Given the description of an element on the screen output the (x, y) to click on. 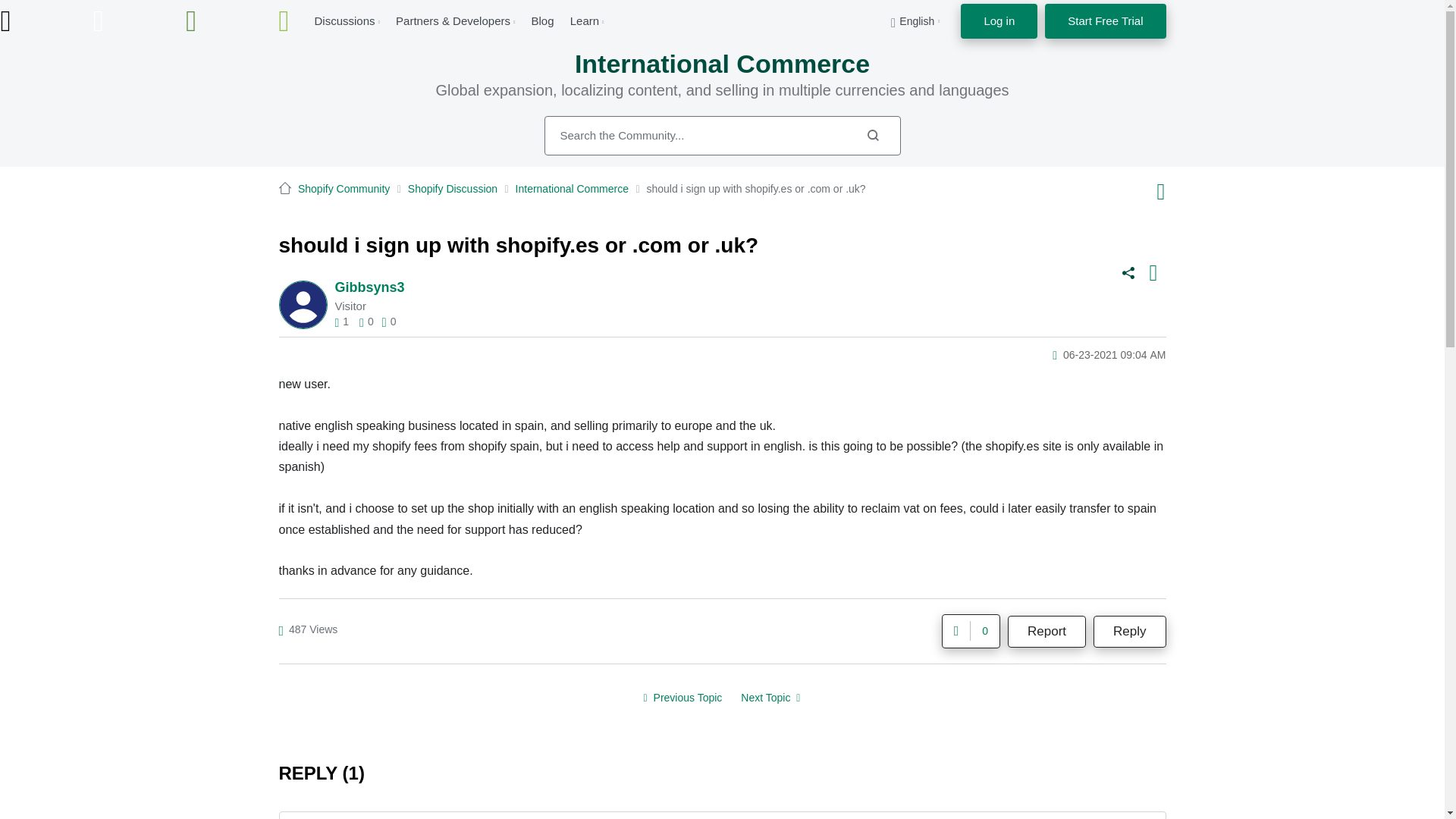
Search (722, 135)
Search (872, 135)
Discussions (344, 20)
Search (872, 135)
